Given the description of an element on the screen output the (x, y) to click on. 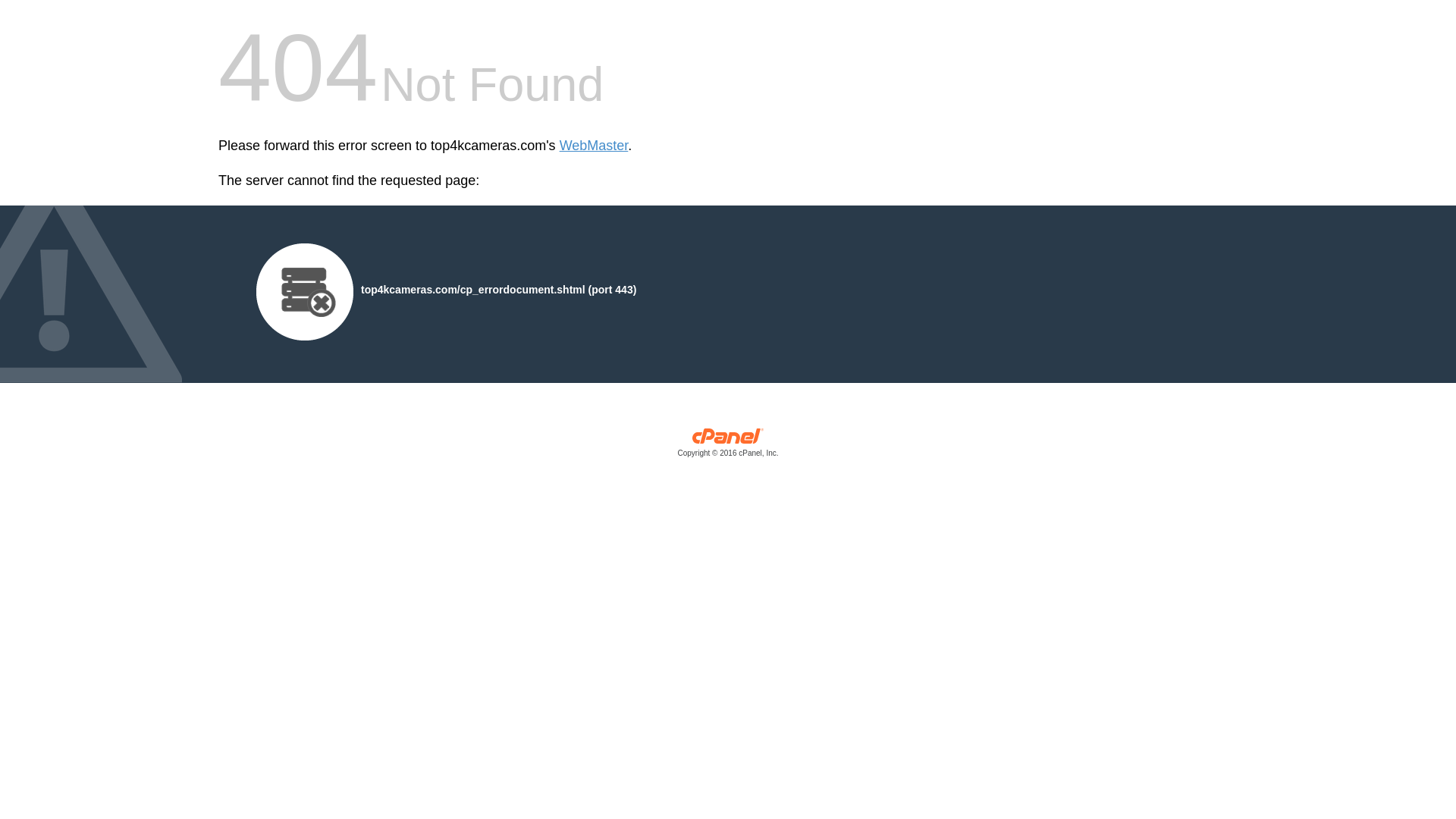
cPanel, Inc. (727, 446)
WebMaster (593, 145)
